Given the description of an element on the screen output the (x, y) to click on. 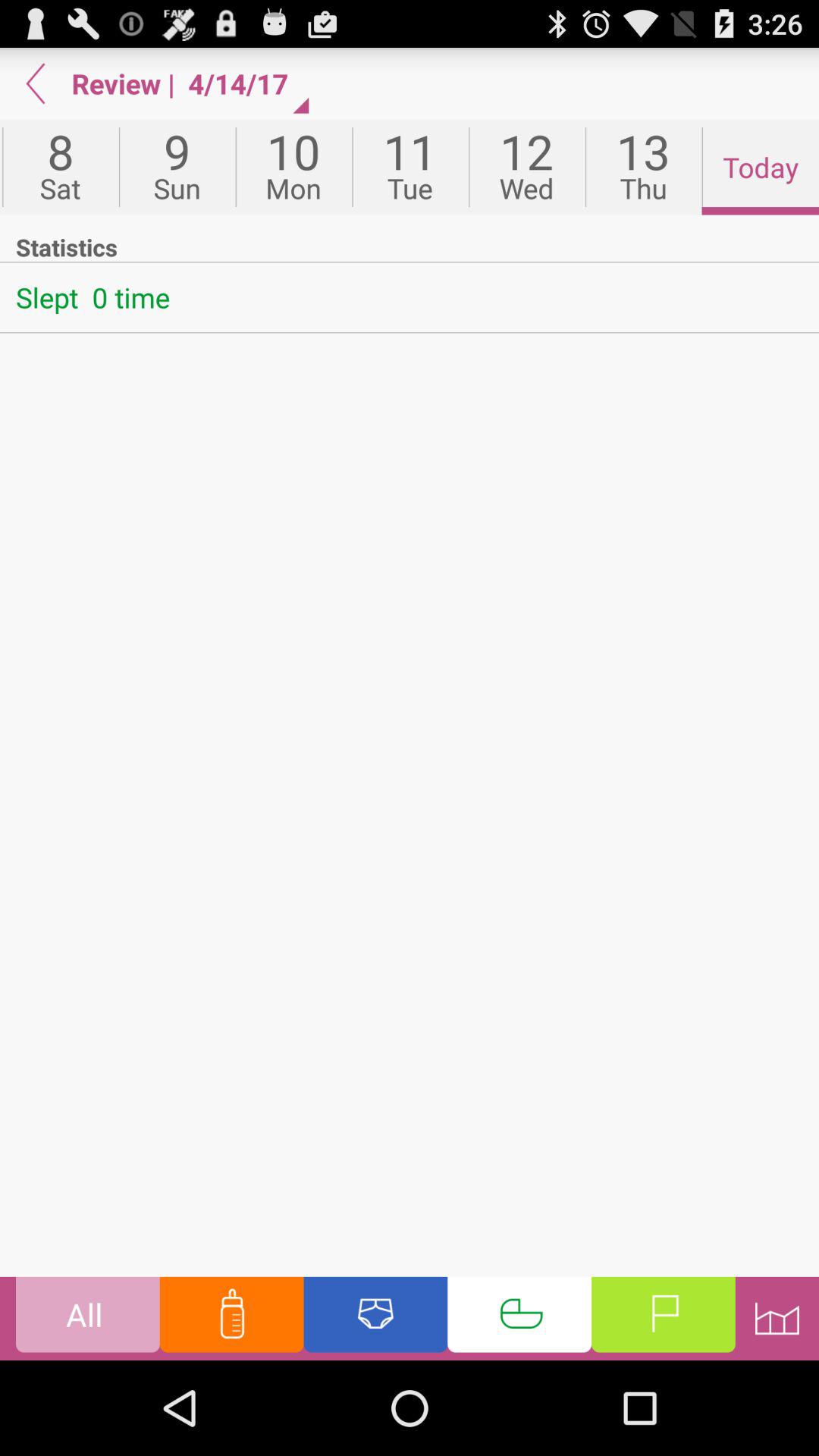
select the first option below the button which is on the top left corner of the web page (60, 167)
click on 13 thu   left to today (643, 167)
click on the date between 11 tue and 13 thu (526, 167)
